Given the description of an element on the screen output the (x, y) to click on. 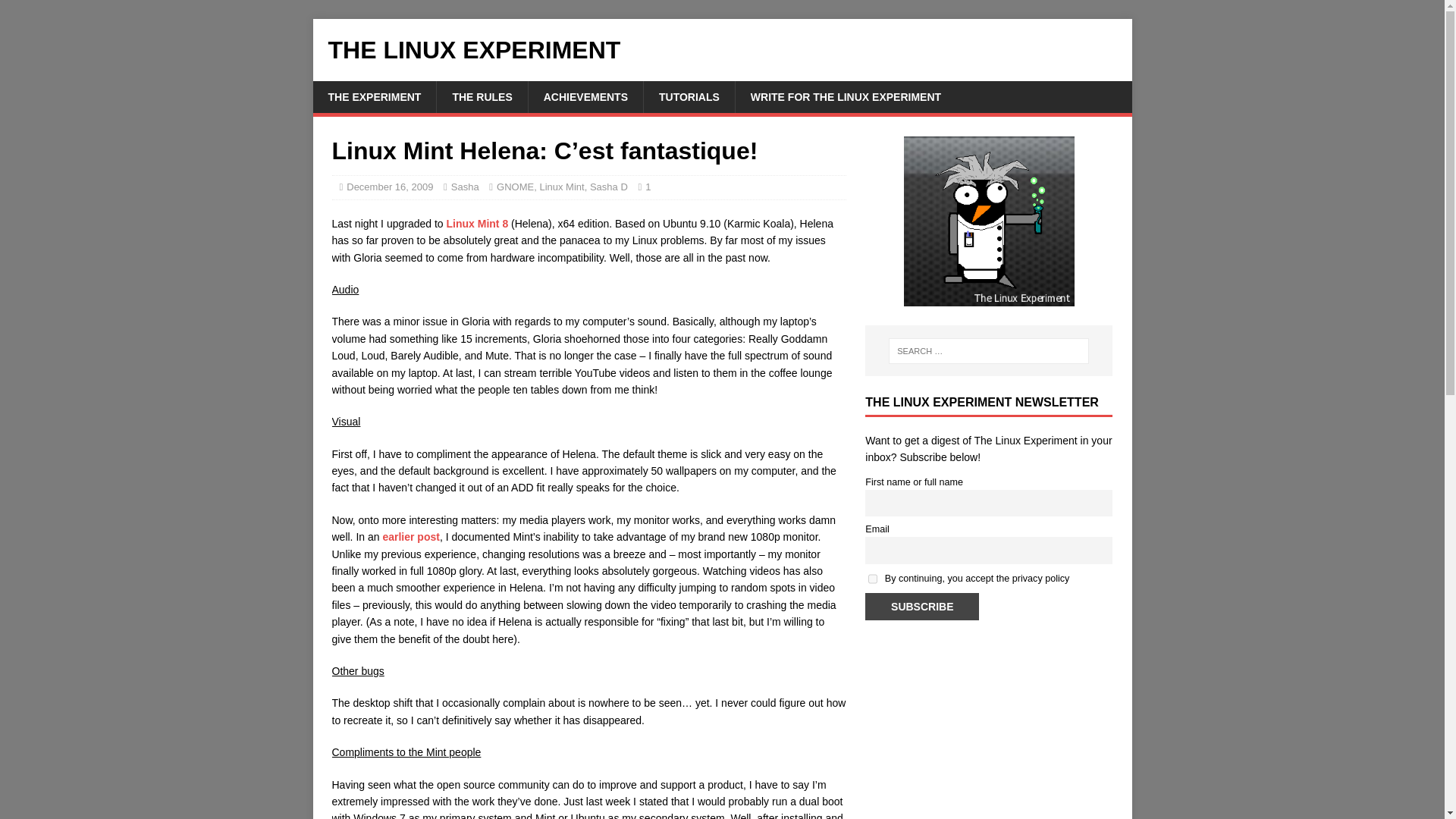
The Linux Experiment (721, 49)
Advertisement (988, 751)
ACHIEVEMENTS (585, 97)
Sasha (465, 186)
on (872, 578)
THE EXPERIMENT (374, 97)
Linux Mint (560, 186)
WRITE FOR THE LINUX EXPERIMENT (845, 97)
Subscribe (921, 605)
Linux Mint 8 (476, 223)
